Given the description of an element on the screen output the (x, y) to click on. 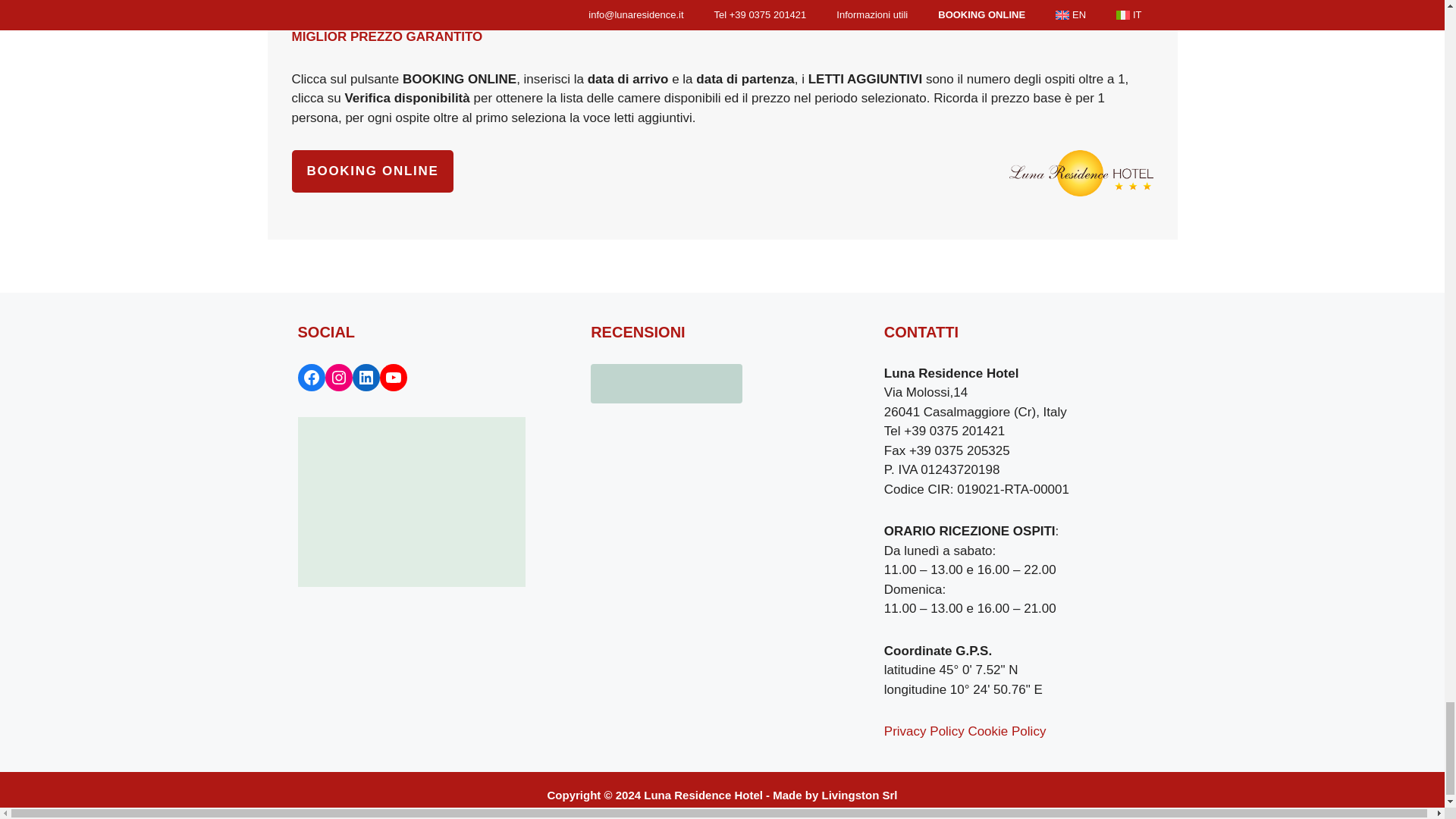
Privacy Policy  (923, 730)
Cookie Policy  (1006, 730)
Logo Luna Residence Hotel (1081, 172)
